Given the description of an element on the screen output the (x, y) to click on. 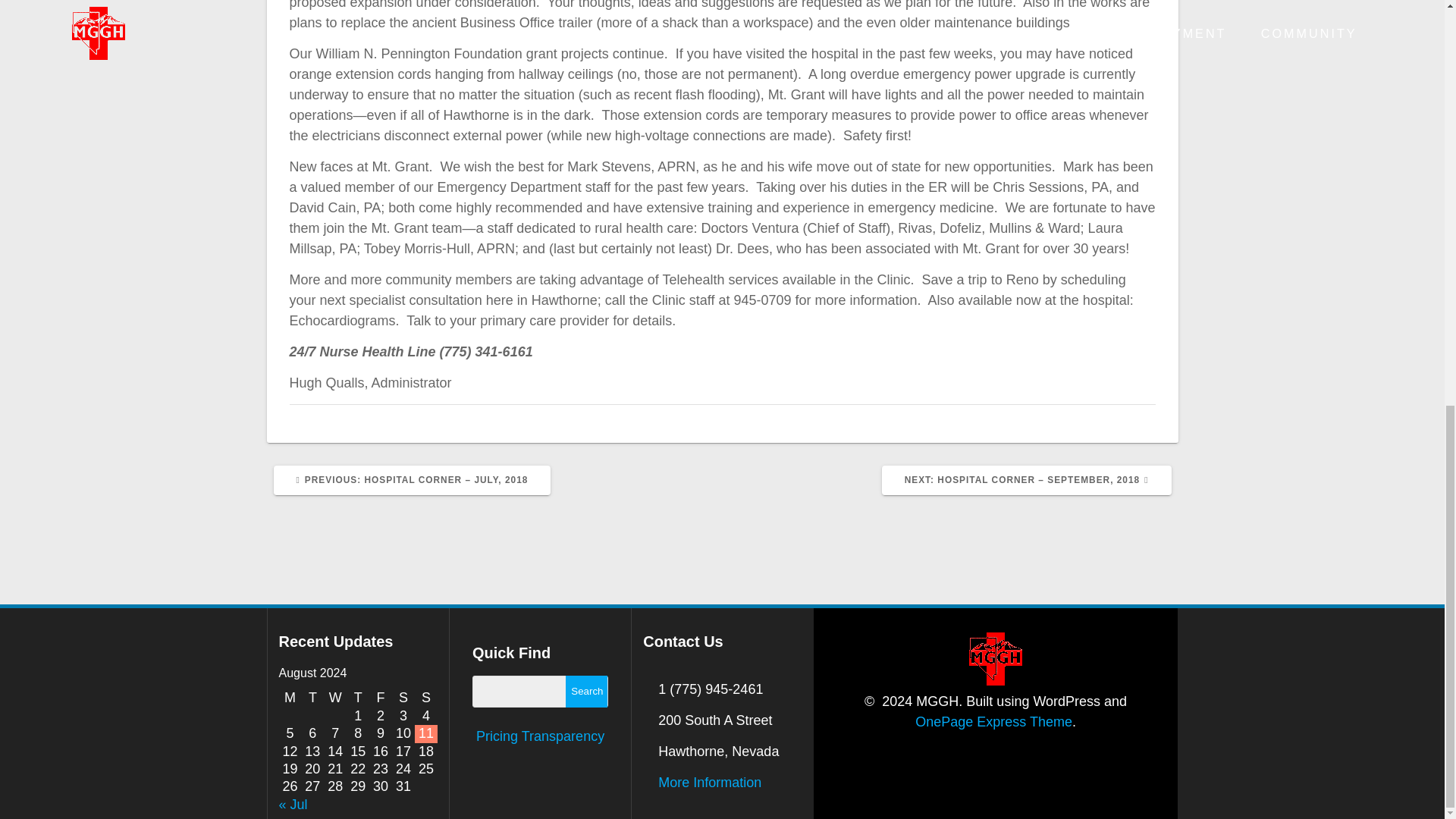
Tuesday (312, 697)
Monday (290, 697)
Wednesday (334, 697)
Search (586, 691)
More Information (709, 782)
Saturday (402, 697)
Sunday (426, 697)
Pricing Transparency (540, 735)
Search (586, 691)
Friday (380, 697)
